Given the description of an element on the screen output the (x, y) to click on. 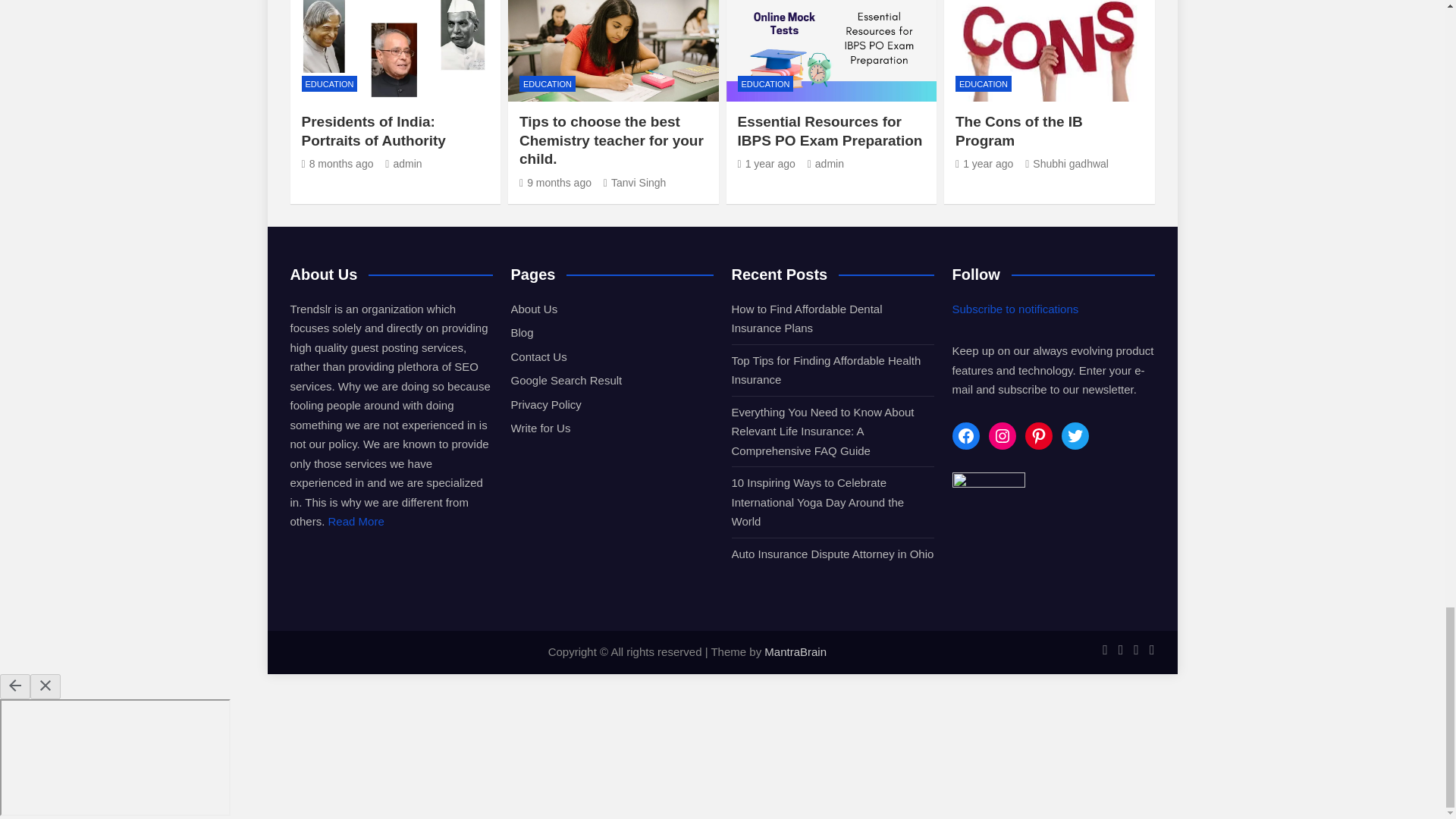
Essential Resources for IBPS PO Exam Preparation (765, 163)
The Cons of the IB Program (984, 163)
Tips to choose the best Chemistry teacher for your child. (555, 182)
MantraBrain (795, 651)
